Given the description of an element on the screen output the (x, y) to click on. 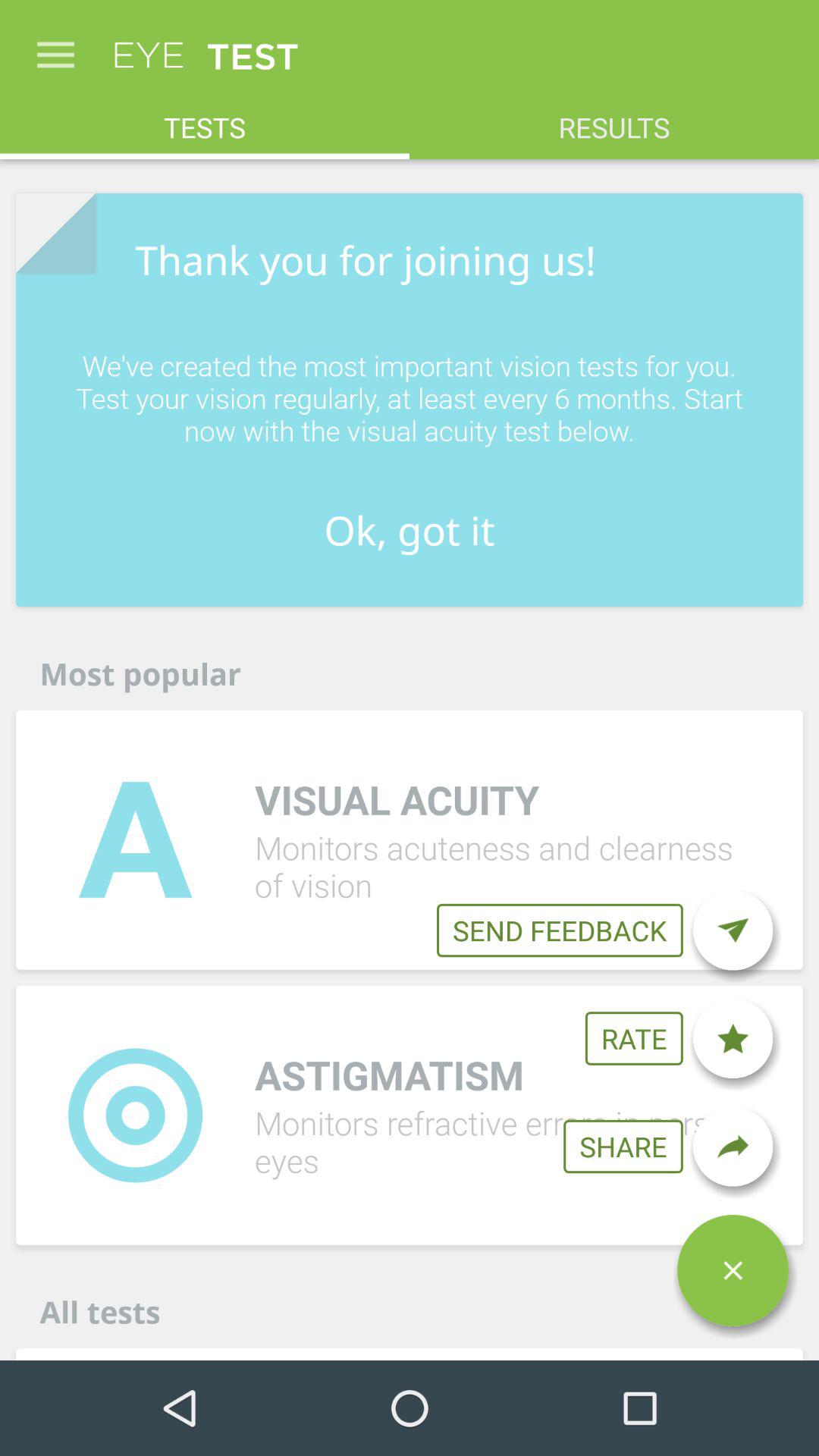
turn on item above the tests (55, 47)
